Given the description of an element on the screen output the (x, y) to click on. 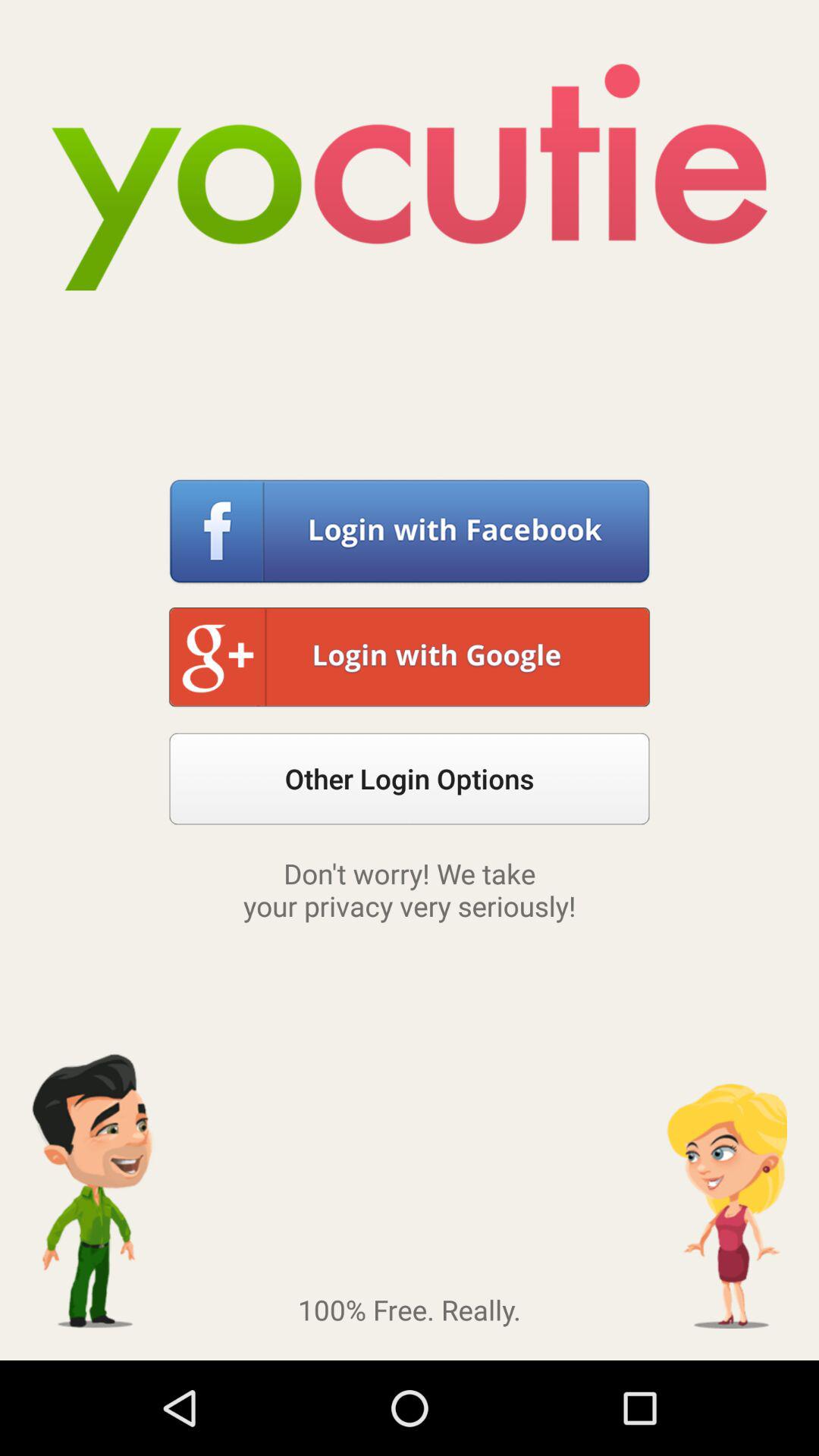
launch button above other login options button (409, 657)
